Given the description of an element on the screen output the (x, y) to click on. 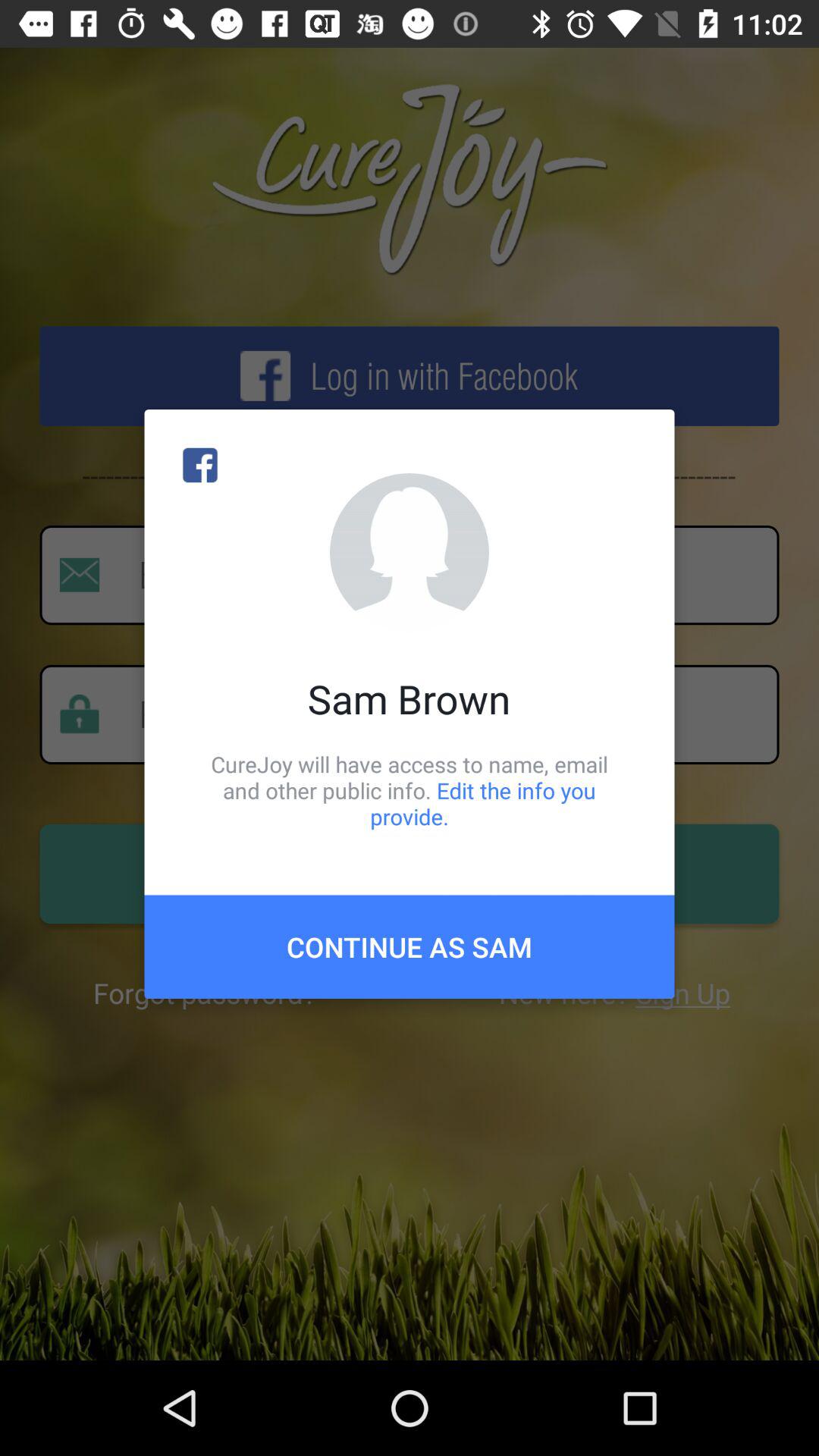
scroll until the continue as sam item (409, 946)
